Given the description of an element on the screen output the (x, y) to click on. 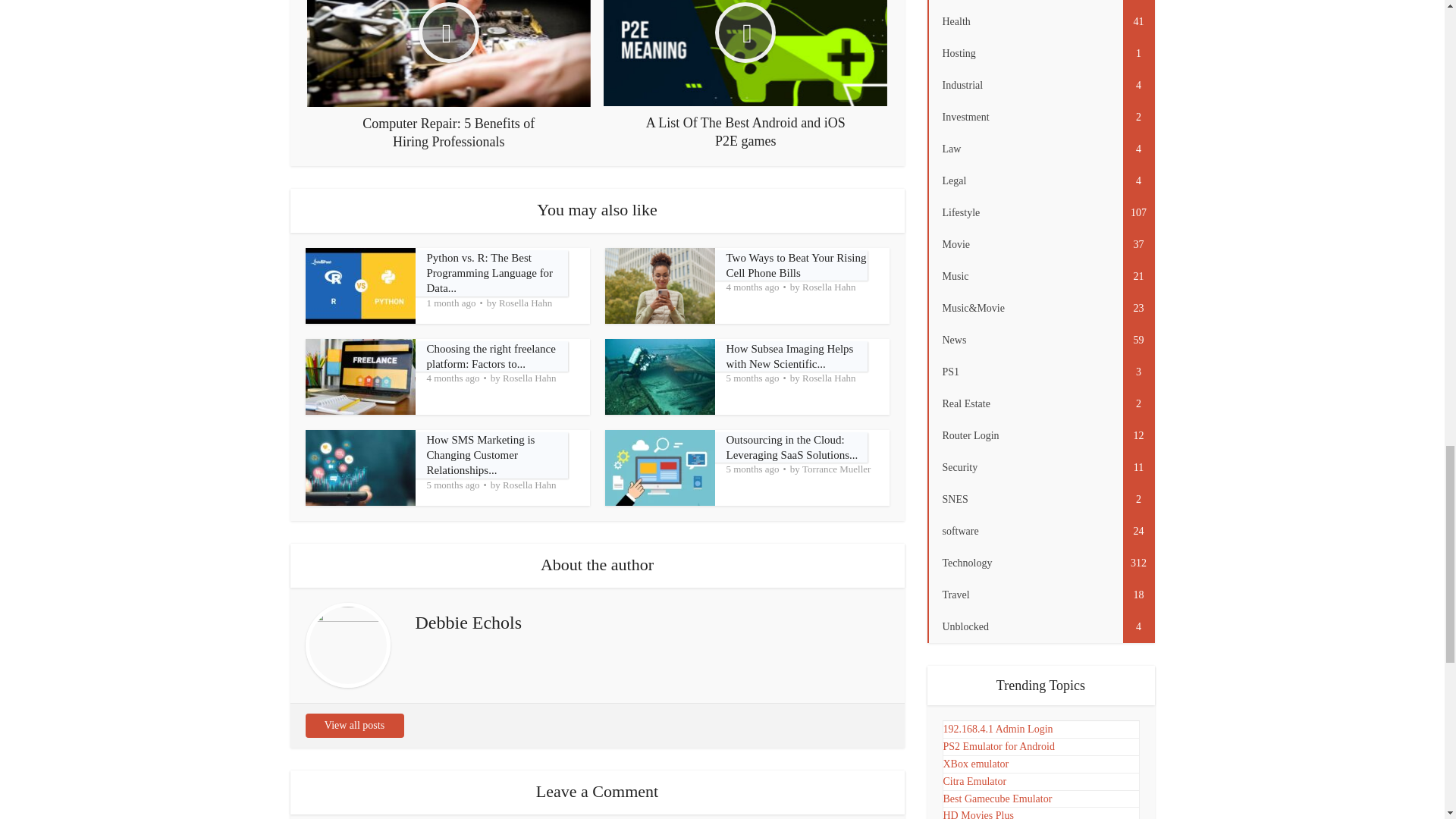
Rosella Hahn (525, 303)
Rosella Hahn (829, 287)
A List Of The Best Android and iOS P2E games (745, 74)
Python vs. R: The Best Programming Language for Data... (489, 272)
How SMS Marketing is Changing Customer Relationships in 2024 (480, 455)
Computer Repair: 5 Benefits of Hiring Professionals (449, 75)
Two Ways to Beat Your Rising Cell Phone Bills (796, 265)
Two Ways to Beat Your Rising Cell Phone Bills (796, 265)
How Subsea Imaging Helps with New Scientific Discoveries (789, 356)
